Given the description of an element on the screen output the (x, y) to click on. 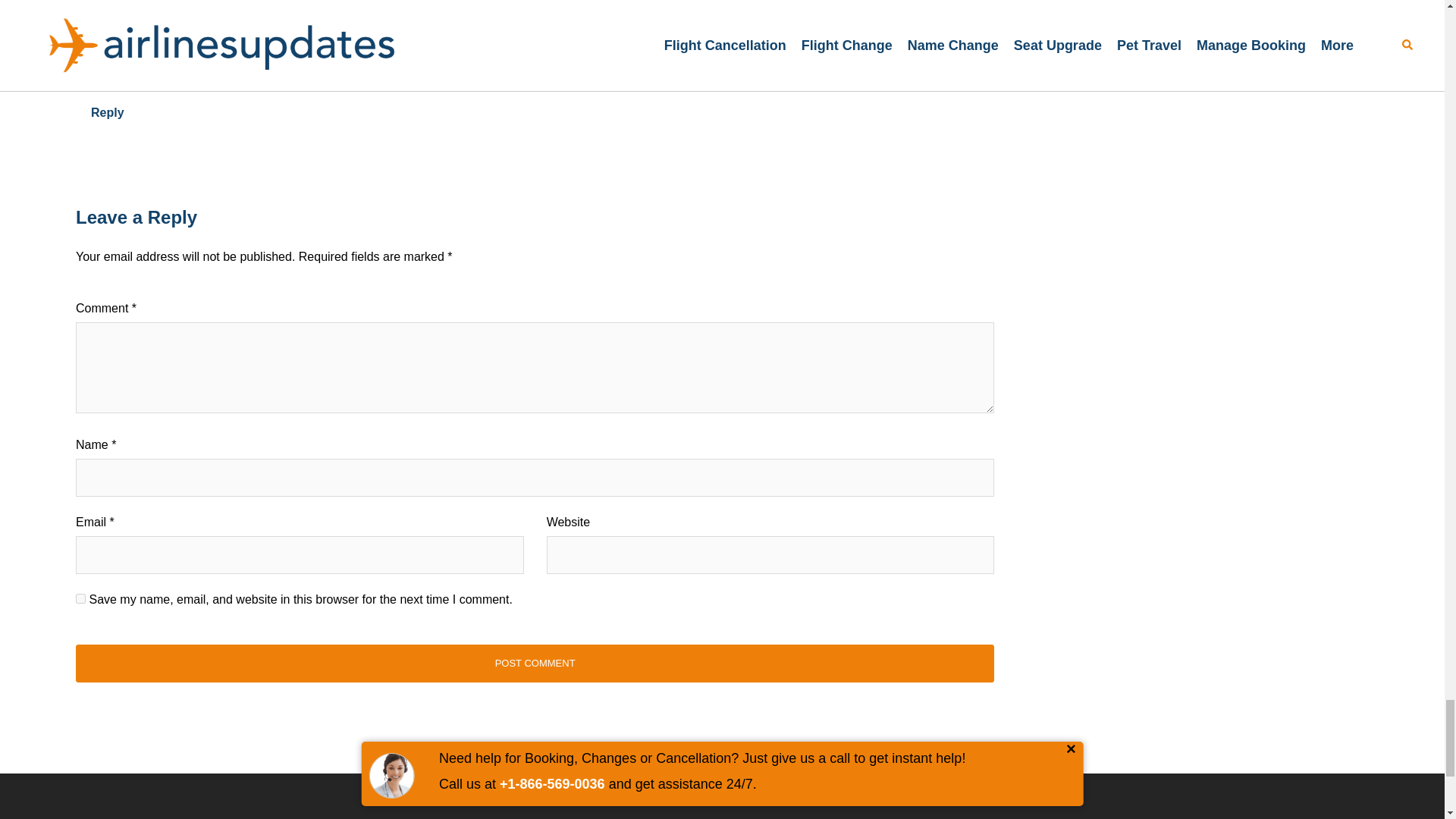
yes (80, 598)
Post Comment (534, 663)
